Given the description of an element on the screen output the (x, y) to click on. 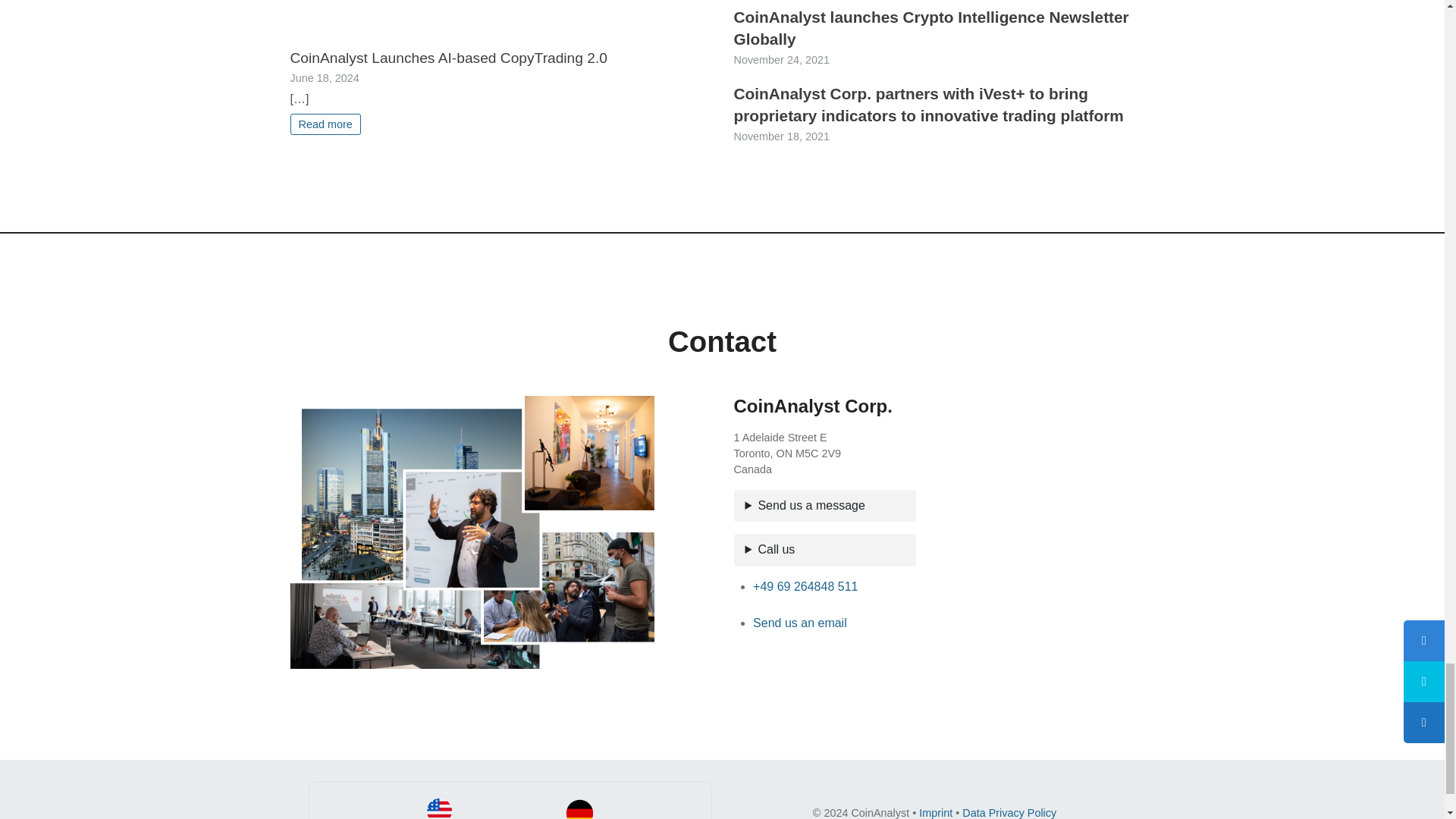
CoinAnalyst Launches AI-based CopyTrading 2.0 (448, 57)
Read more (324, 124)
June 18, 2024 (323, 78)
